Given the description of an element on the screen output the (x, y) to click on. 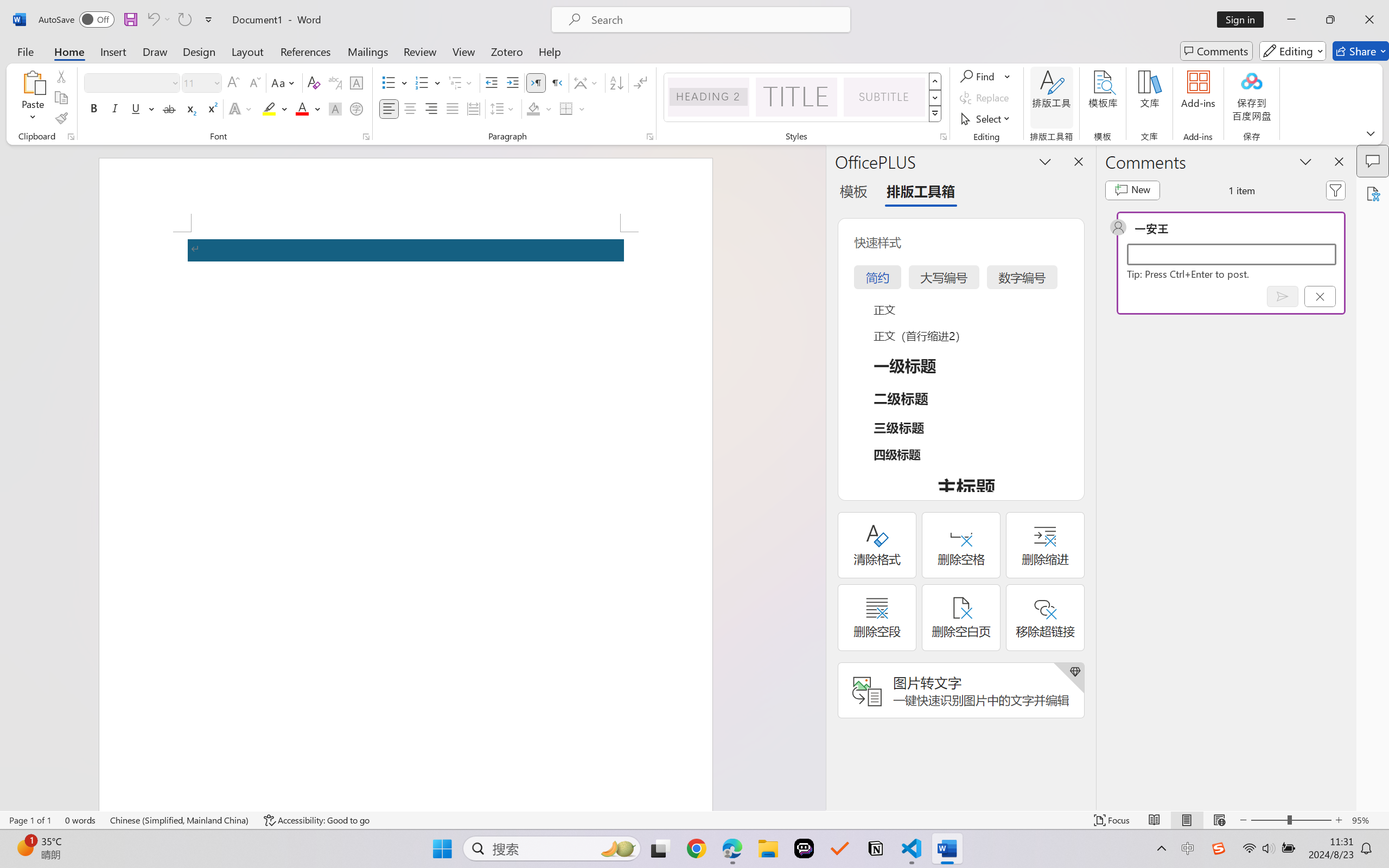
Accessibility Assistant (1373, 193)
Subtitle (883, 96)
